Given the description of an element on the screen output the (x, y) to click on. 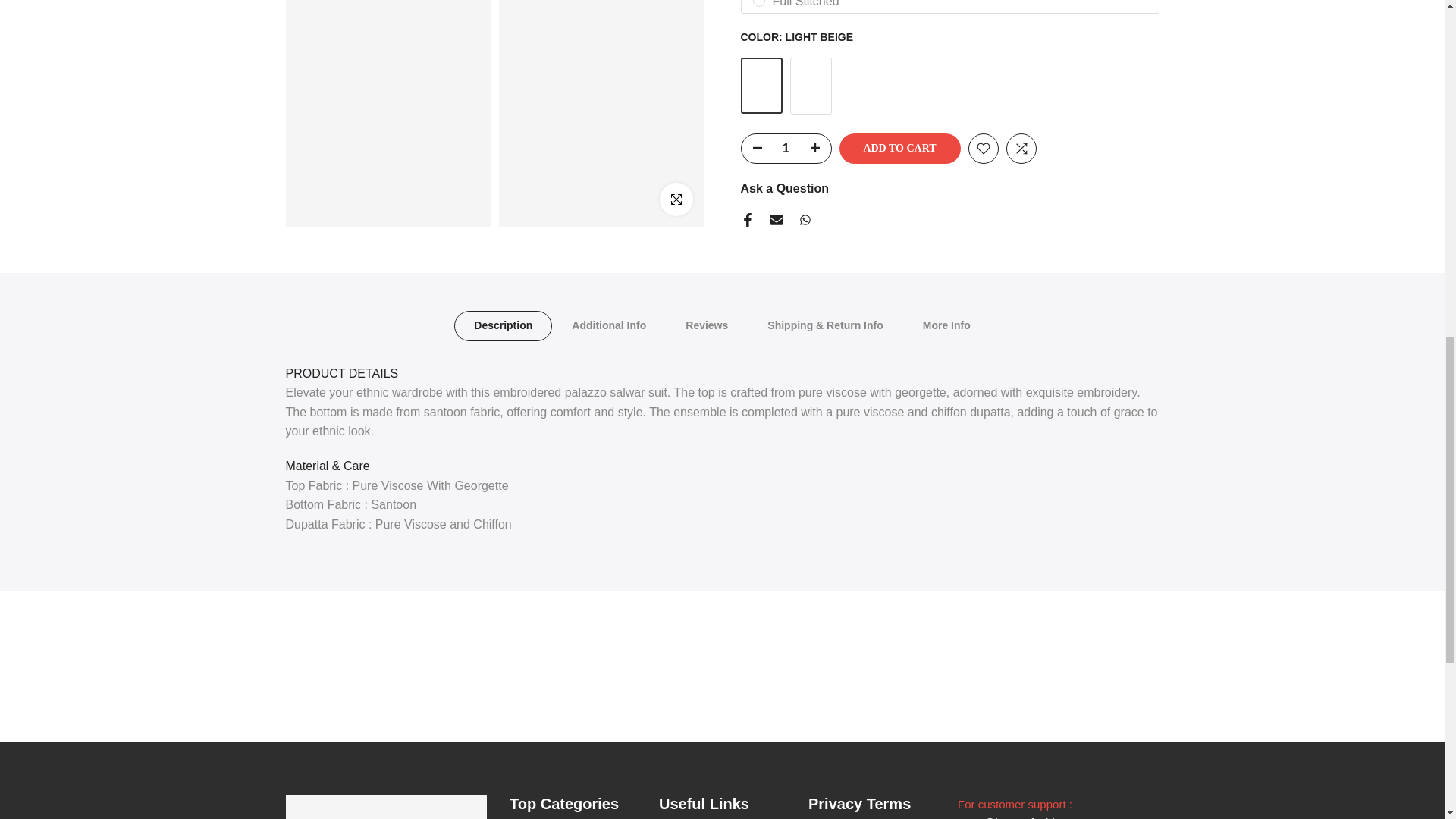
More Info (946, 326)
Reviews (706, 326)
Description (502, 326)
Additional Info (608, 326)
